Given the description of an element on the screen output the (x, y) to click on. 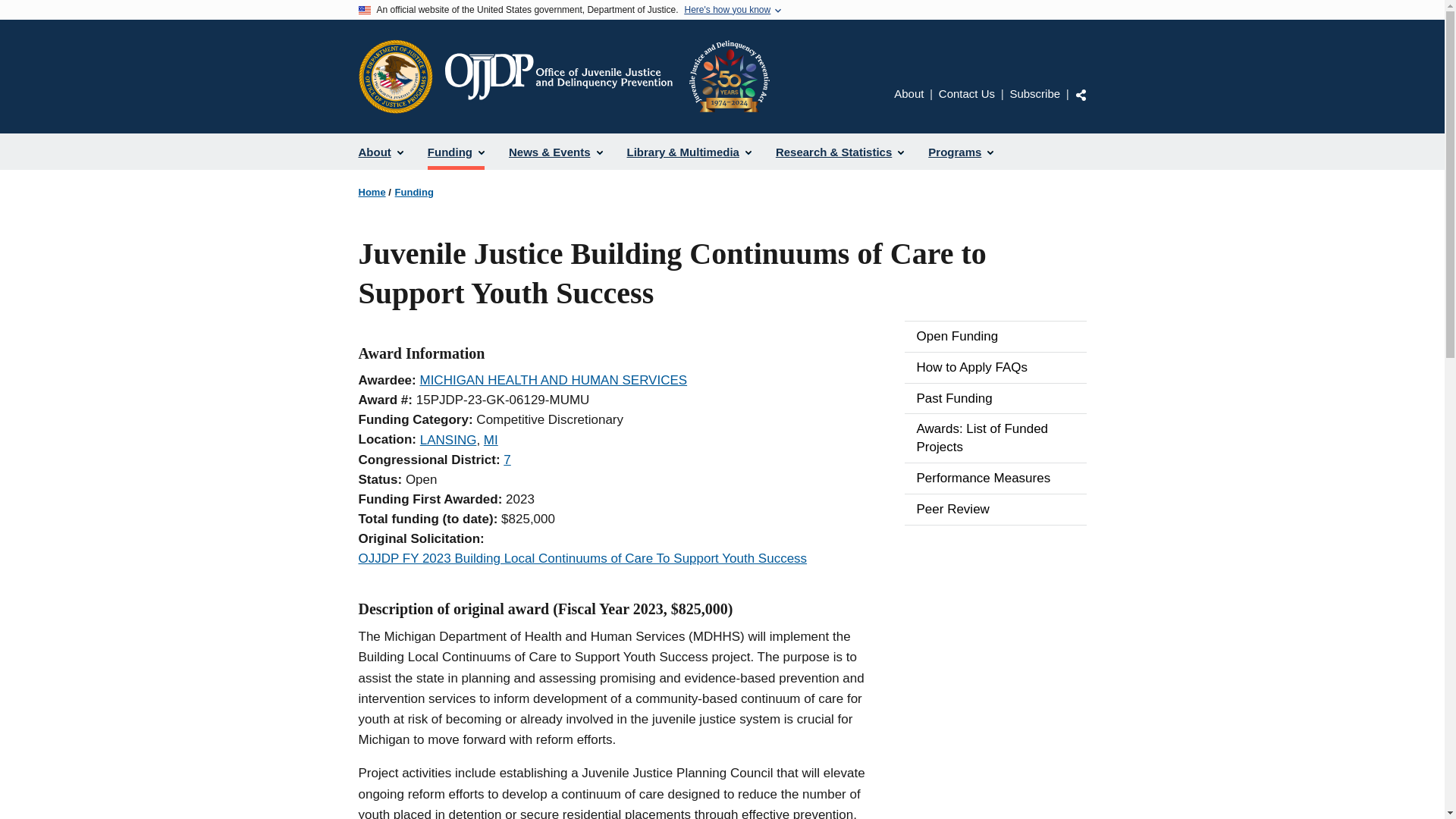
Choose a social sharing platform (1080, 94)
Here's how you know (727, 9)
Office of Justice Programs (395, 76)
MI (490, 440)
About (908, 93)
Open Funding (995, 336)
Subscribe (1034, 93)
Home (606, 76)
Funding (455, 151)
MICHIGAN HEALTH AND HUMAN SERVICES (553, 380)
Contact Us (966, 93)
Peer Review (995, 509)
About (380, 151)
Home (371, 192)
